Given the description of an element on the screen output the (x, y) to click on. 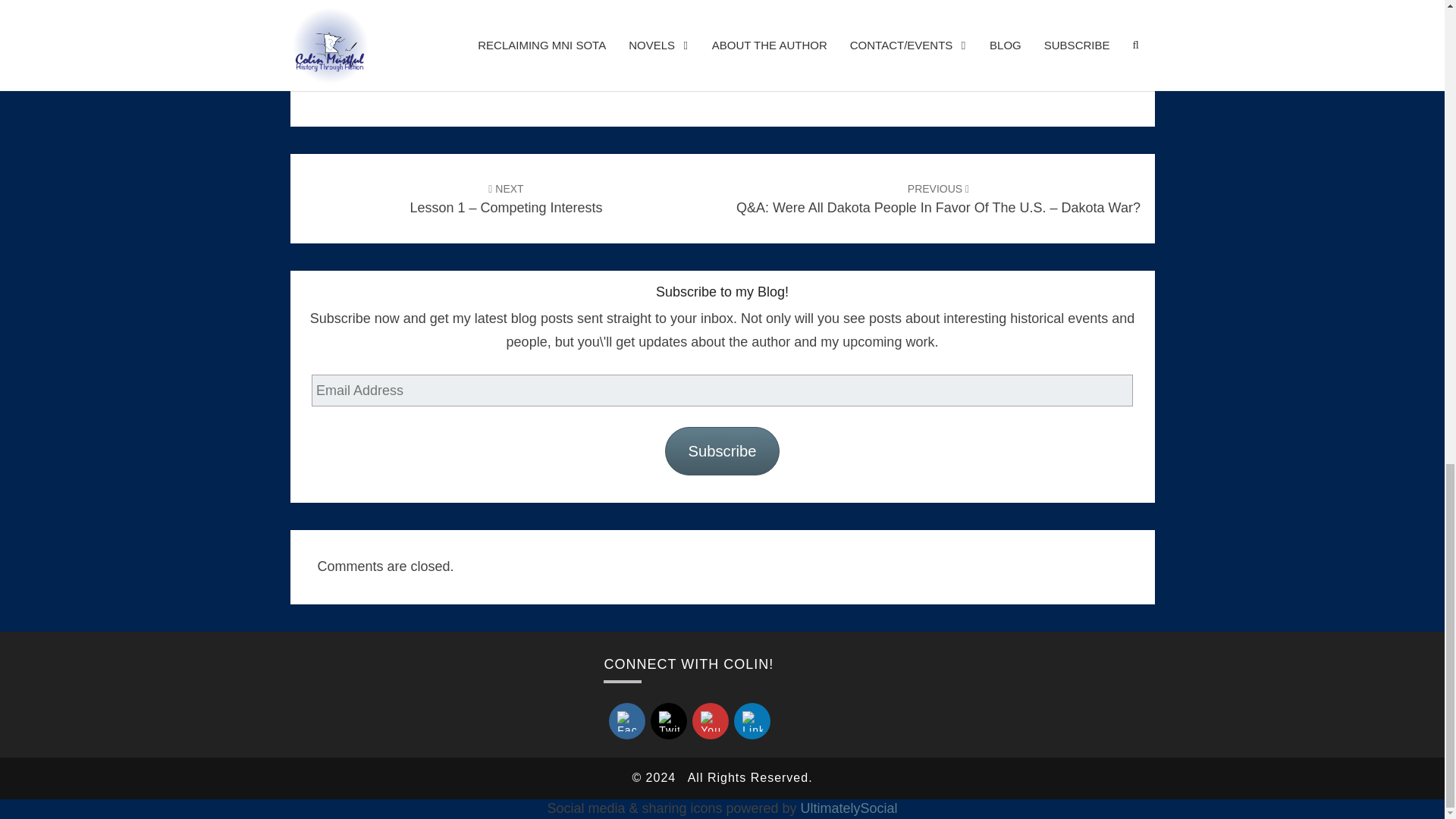
Click to share on LinkedIn (416, 9)
Click to share on Twitter (355, 9)
UltimatelySocial (849, 807)
Twitter (668, 721)
LinkedIn (751, 721)
YouTube (710, 721)
Click to share on Facebook (386, 9)
Uncategorized (399, 82)
Subscribe (721, 450)
Facebook (627, 721)
